Given the description of an element on the screen output the (x, y) to click on. 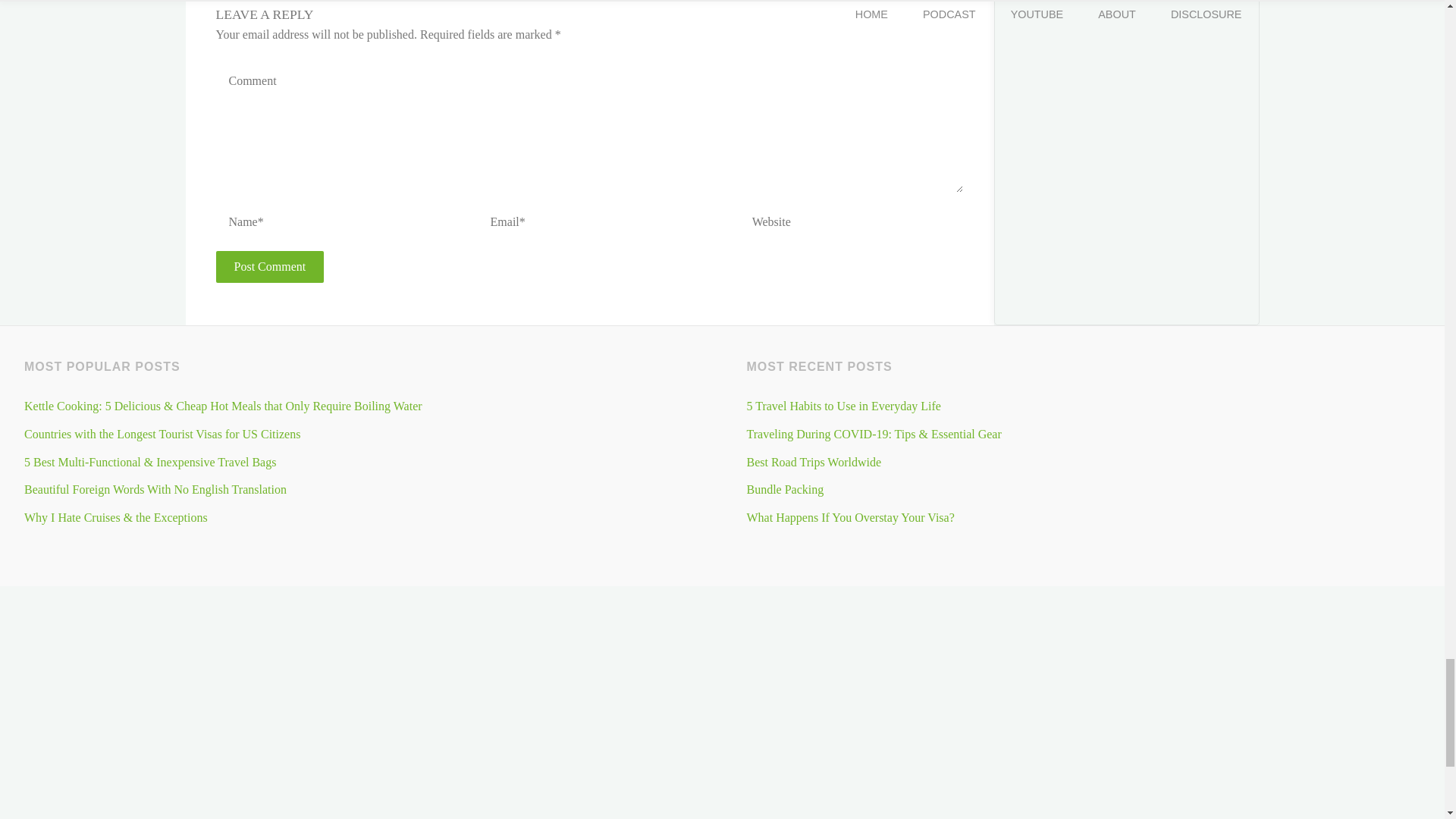
Countries with the Longest Tourist Visas for US Citizens (161, 433)
Post Comment (269, 266)
